Given the description of an element on the screen output the (x, y) to click on. 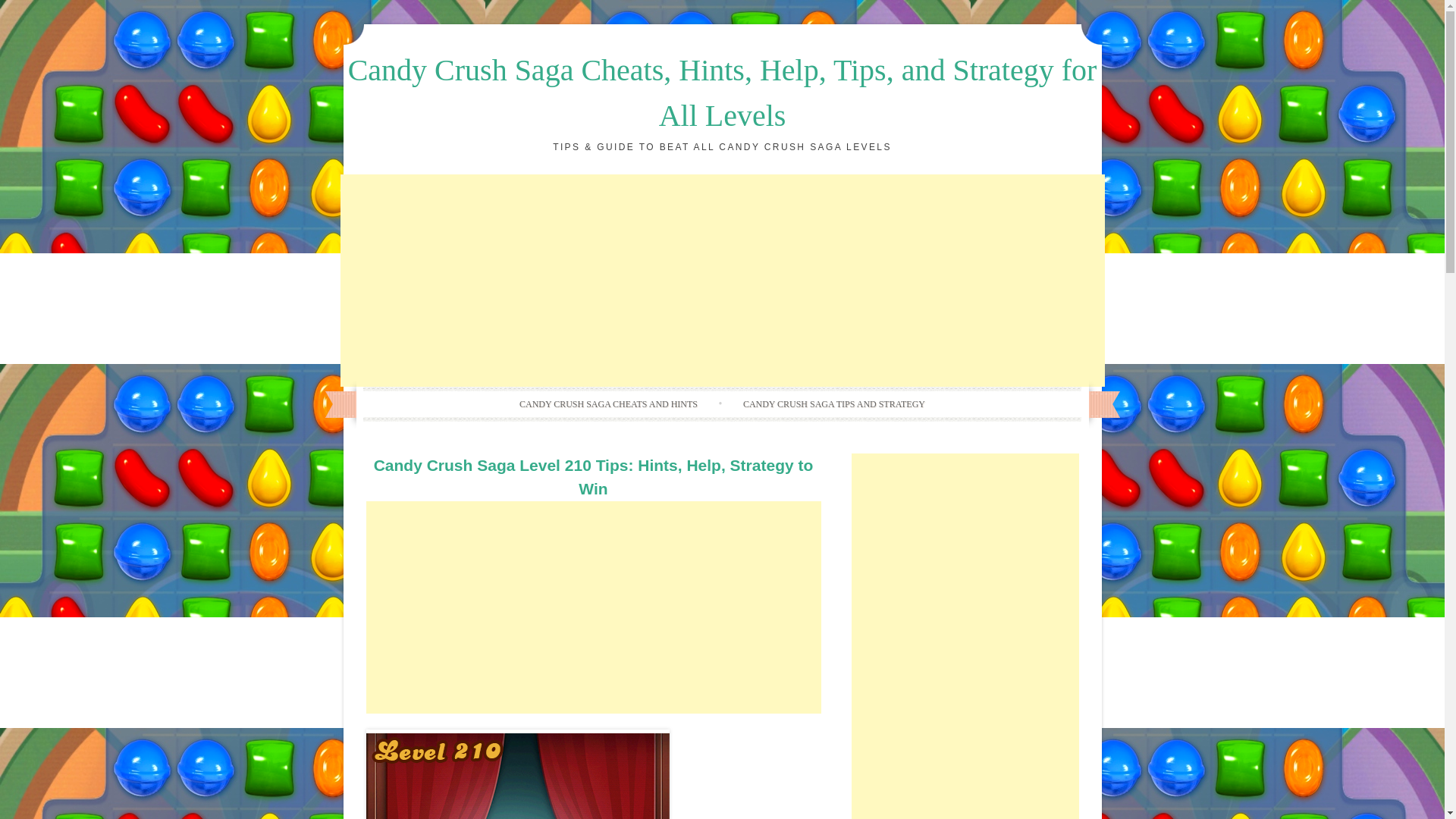
CANDY CRUSH SAGA CHEATS AND HINTS (608, 403)
Advertisement (593, 607)
CANDY CRUSH SAGA TIPS AND STRATEGY (834, 403)
